Given the description of an element on the screen output the (x, y) to click on. 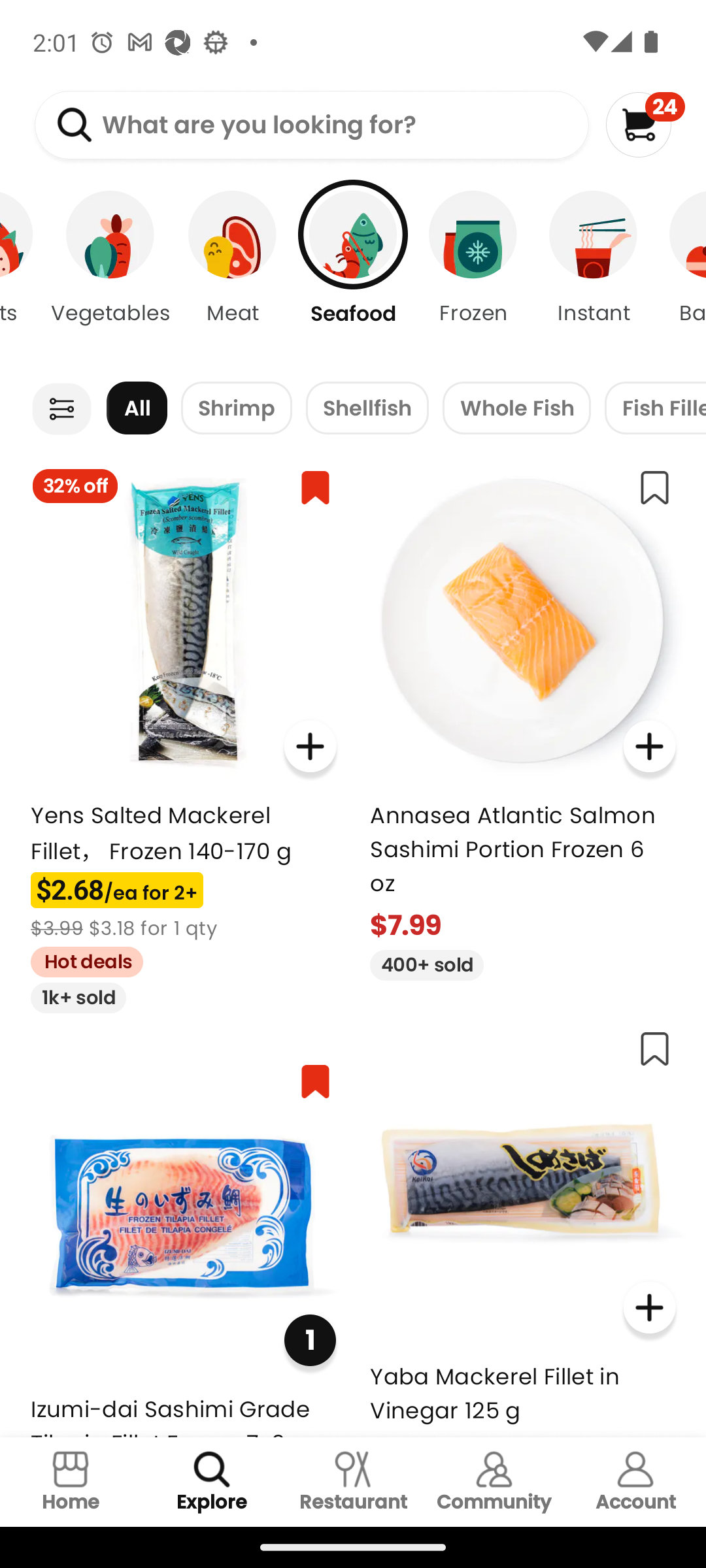
What are you looking for? (311, 124)
24 (644, 124)
Vegetables (110, 274)
Meat (232, 274)
Seafood (352, 274)
Frozen (473, 274)
Instant (593, 274)
All (136, 407)
Shrimp (236, 407)
Shellfish (366, 407)
Whole Fish (516, 407)
Fish Fillets & Steaks (655, 407)
Hot deals (79, 958)
Yaba Mackerel Fillet in Vinegar 125 g $3.99 (522, 1225)
1 (310, 1339)
Home (70, 1482)
Explore (211, 1482)
Restaurant (352, 1482)
Community (493, 1482)
Account (635, 1482)
